Given the description of an element on the screen output the (x, y) to click on. 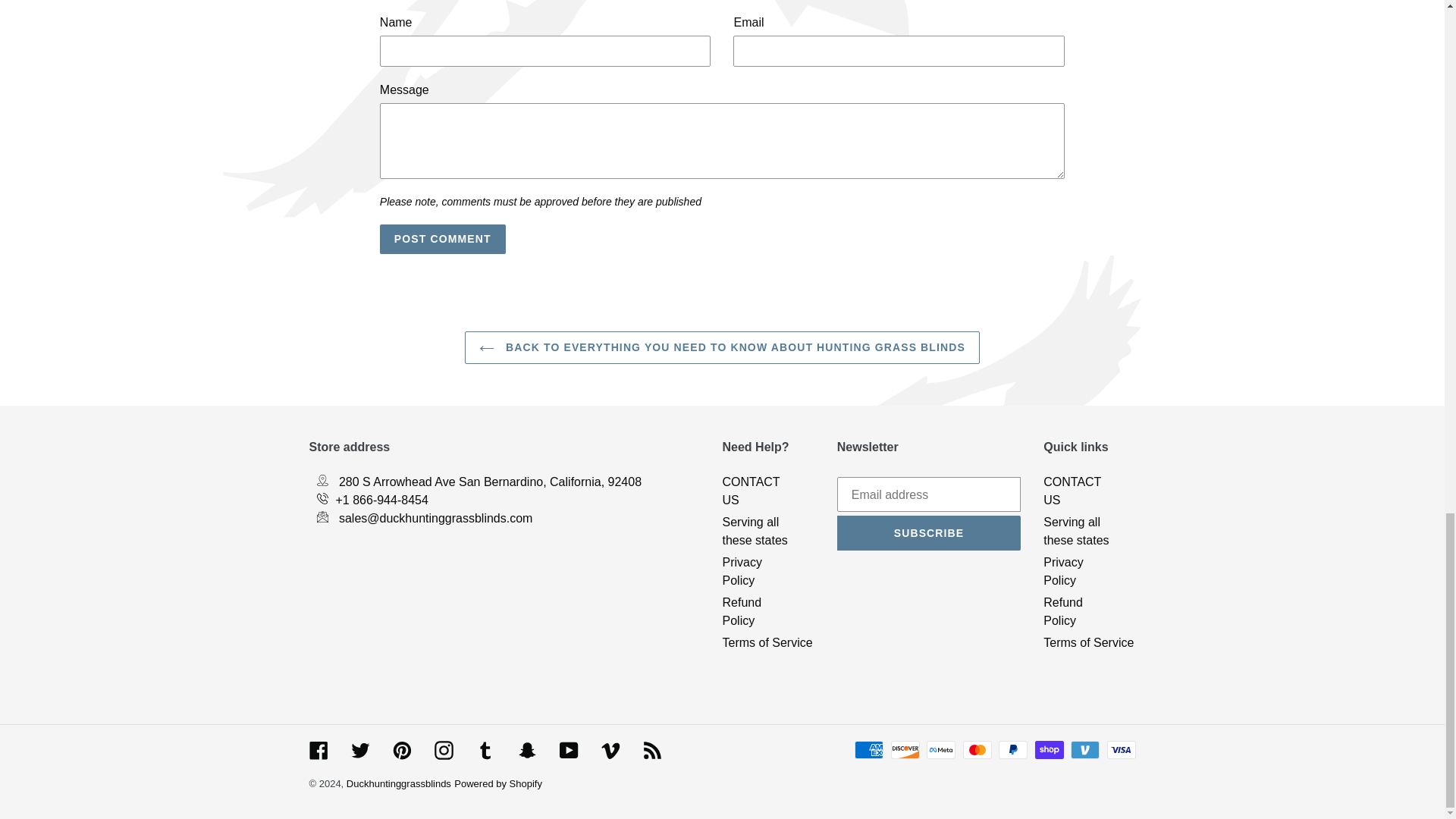
Post comment (442, 238)
Serving all these states (754, 531)
Privacy Policy (741, 571)
Refund Policy (741, 611)
Post comment (442, 238)
CONTACT US (750, 490)
